Given the description of an element on the screen output the (x, y) to click on. 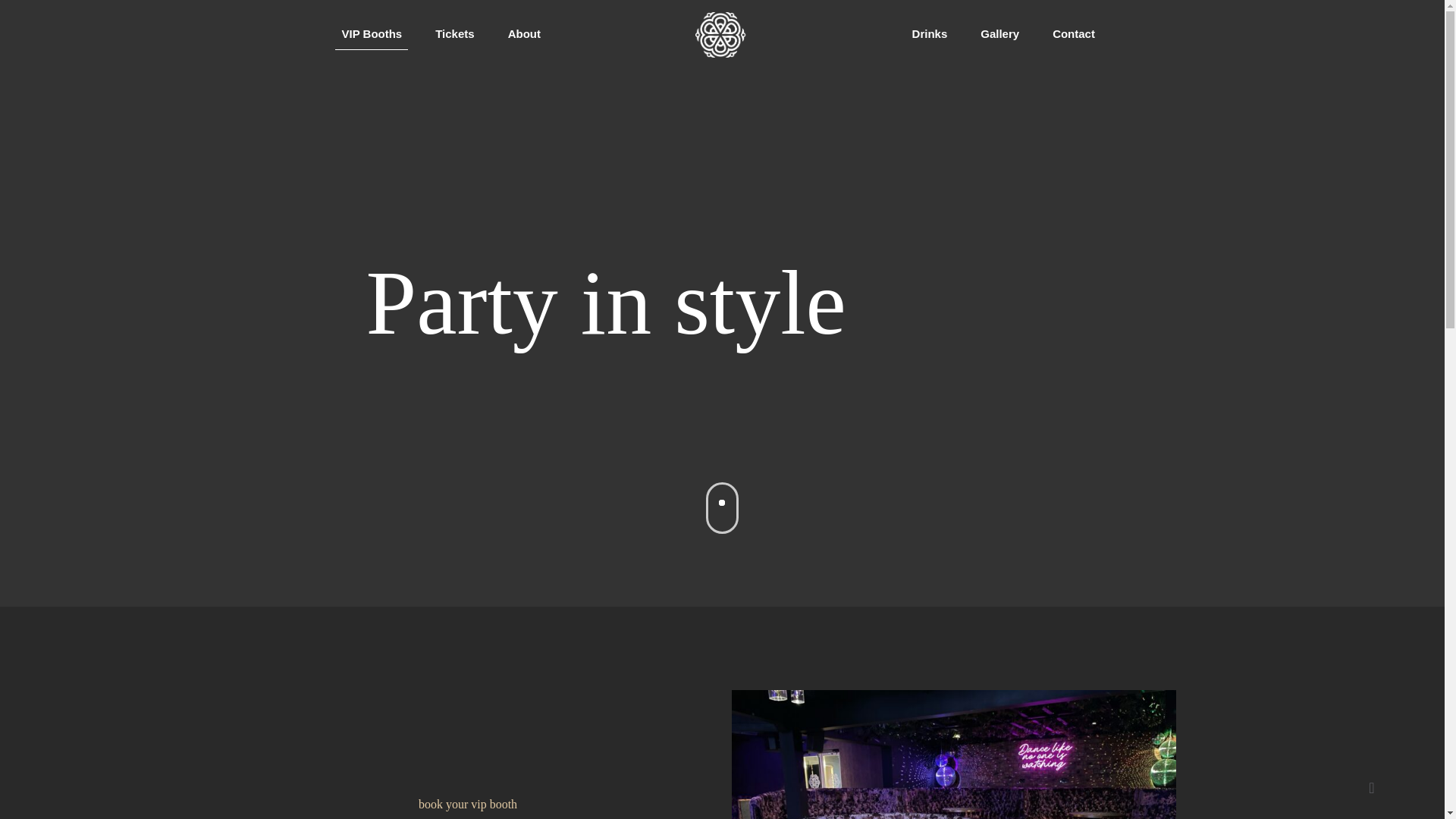
About (524, 33)
Drinks (929, 33)
Contact (1072, 33)
The Viceroy (721, 33)
Tickets (454, 33)
Gallery (999, 33)
VIP Booths (371, 33)
